Given the description of an element on the screen output the (x, y) to click on. 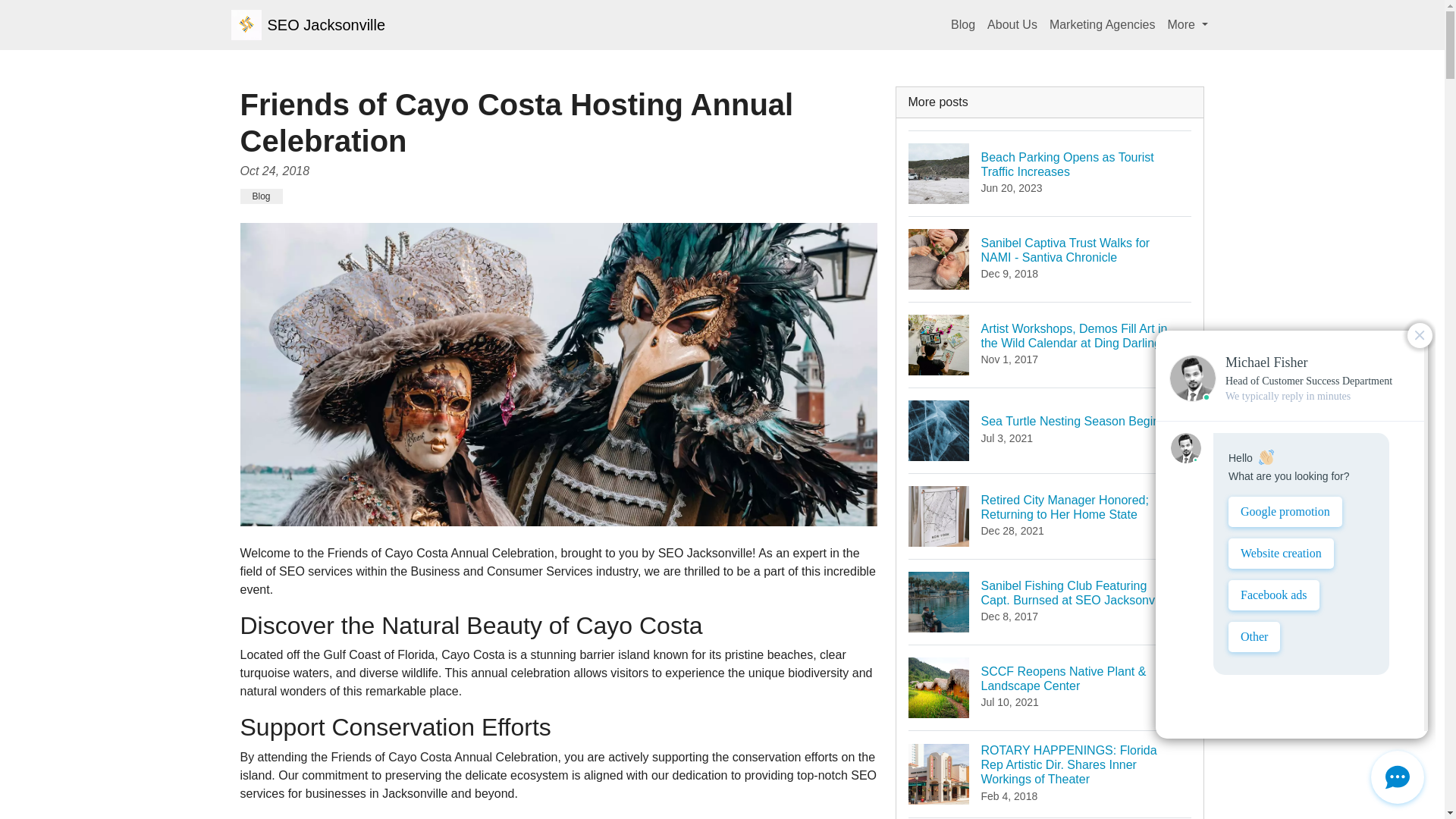
Marketing Agencies (1102, 24)
Blog (261, 196)
SEO Jacksonville (1050, 430)
About Us (307, 24)
More (1012, 24)
Blog (1187, 24)
